Given the description of an element on the screen output the (x, y) to click on. 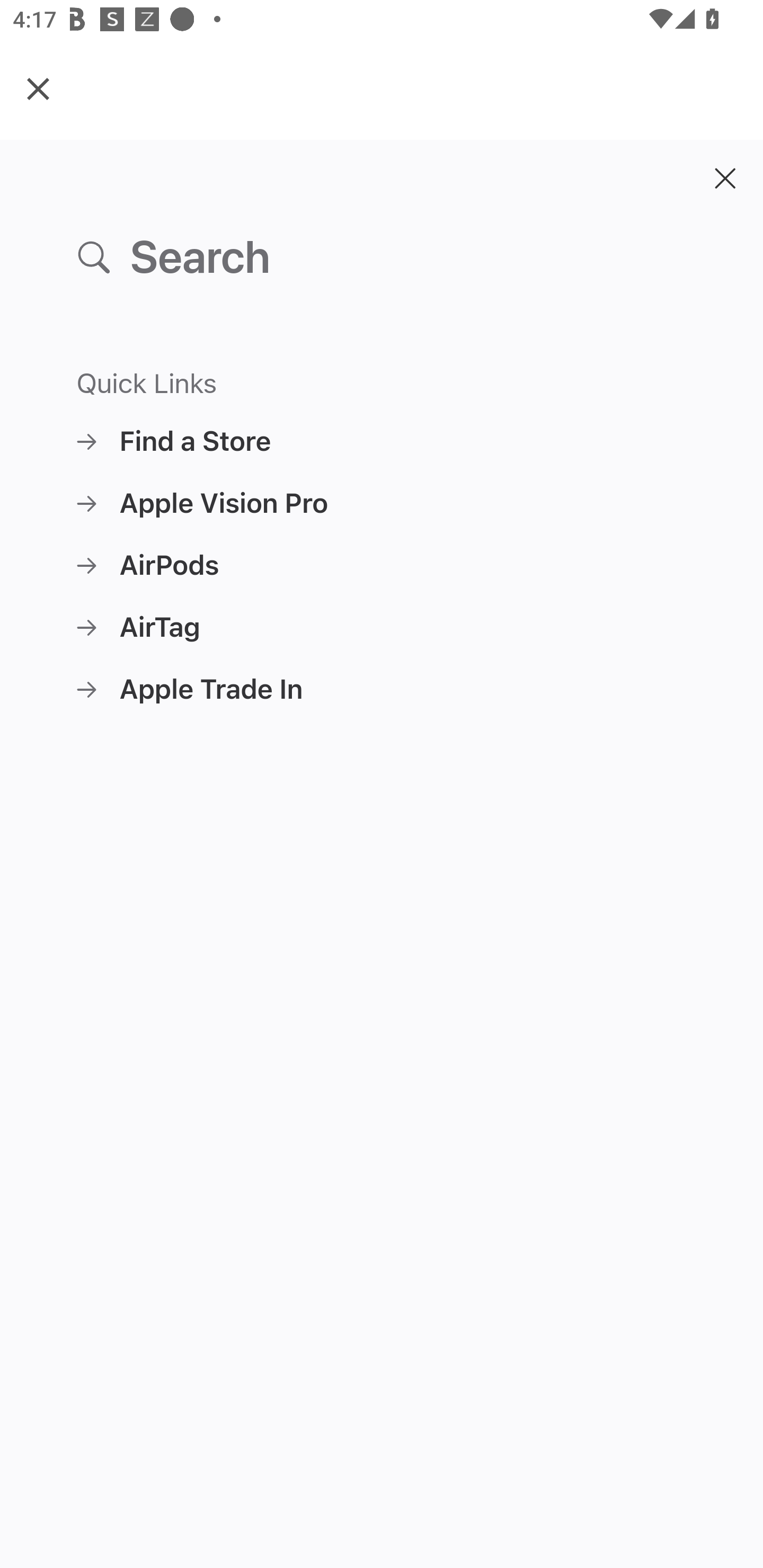
Close (38, 88)
Close (724, 177)
Find a Store (381, 441)
Apple Vision Pro (381, 502)
AirPods (381, 565)
AirTag (381, 626)
Apple Trade In (381, 689)
